Given the description of an element on the screen output the (x, y) to click on. 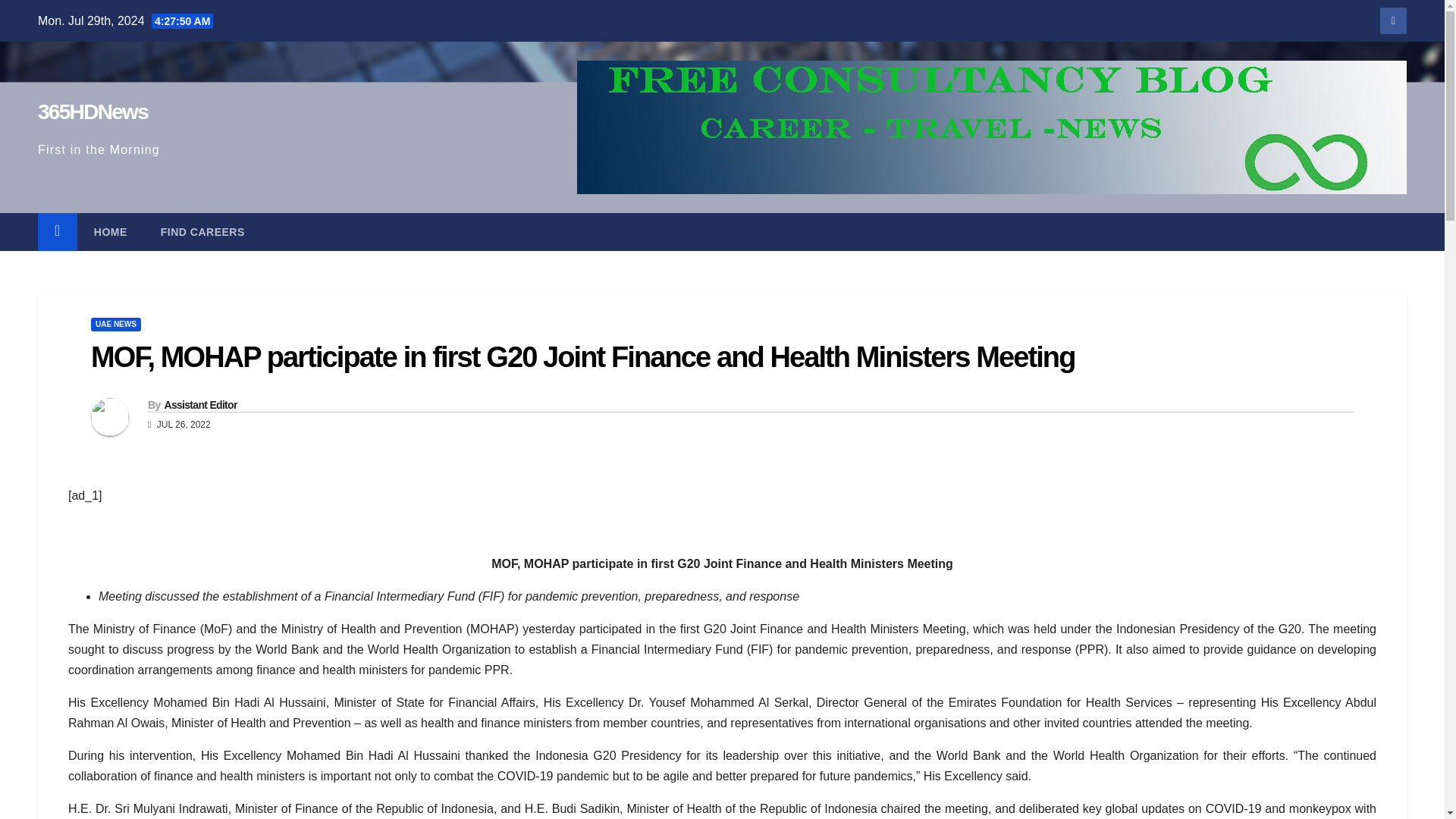
365HDNews (92, 111)
Assistant Editor (199, 404)
HOME (110, 231)
UAE NEWS (115, 324)
FIND CAREERS (203, 231)
Home (110, 231)
Find Careers (203, 231)
